Given the description of an element on the screen output the (x, y) to click on. 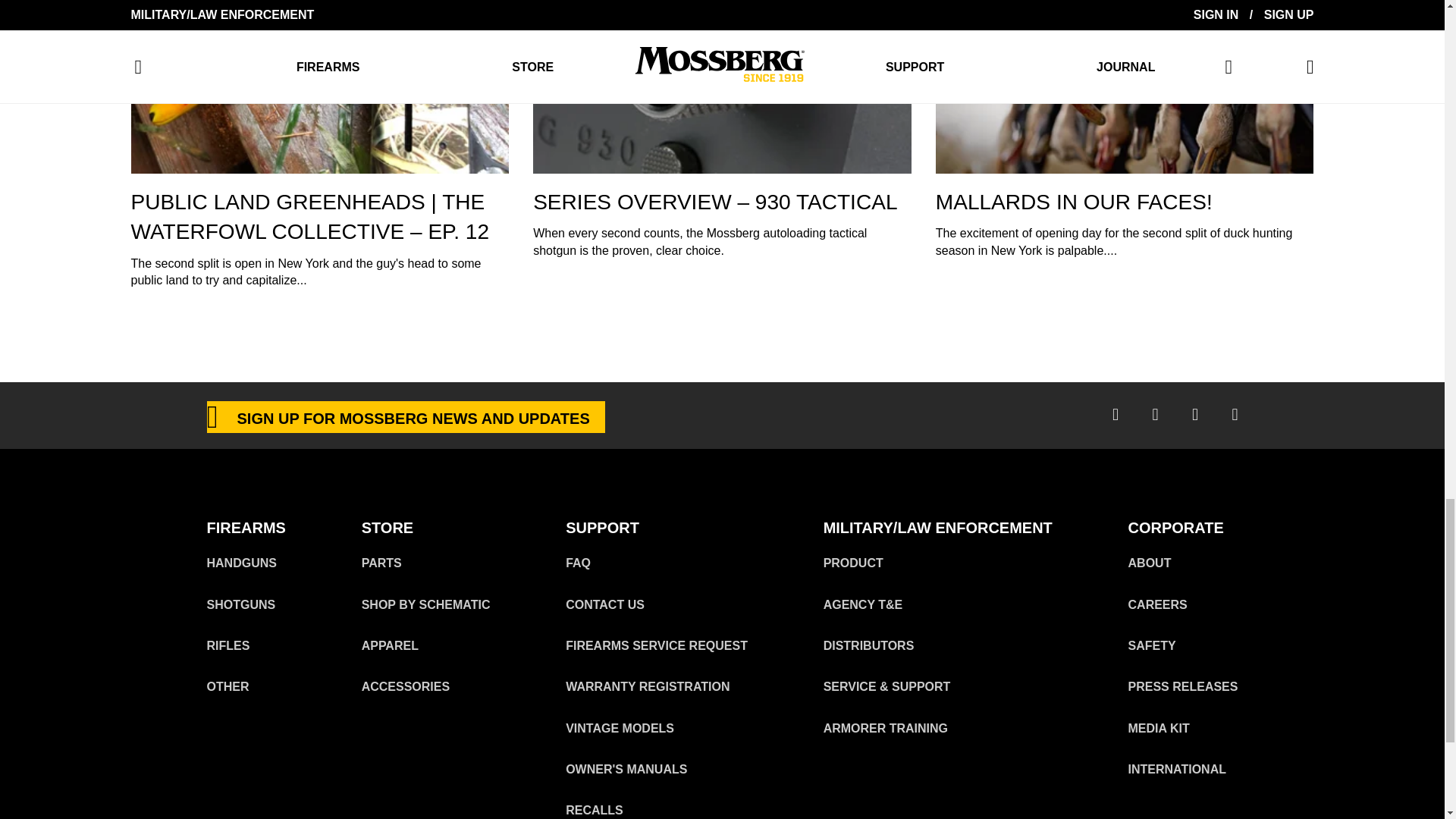
SIGN UP FOR MOSSBERG NEWS AND UPDATES (405, 417)
MALLARDS IN OUR FACES! (1074, 201)
HANDGUNS (241, 562)
FIREARMS (245, 527)
